Given the description of an element on the screen output the (x, y) to click on. 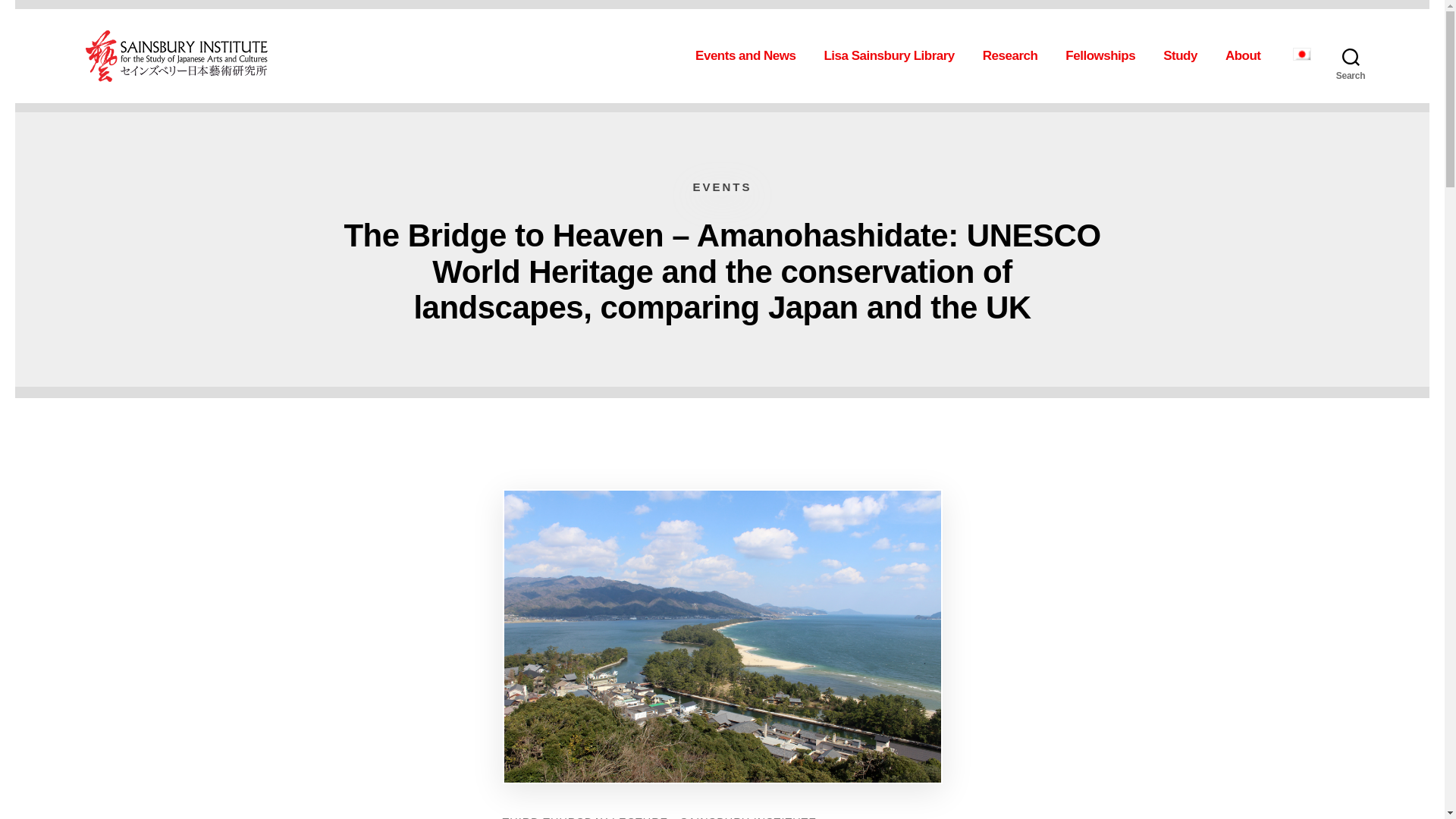
Research (1014, 55)
Fellowships (1104, 55)
Events and News (750, 55)
Lisa Sainsbury Library (893, 55)
About (1247, 55)
Study (1185, 55)
